Given the description of an element on the screen output the (x, y) to click on. 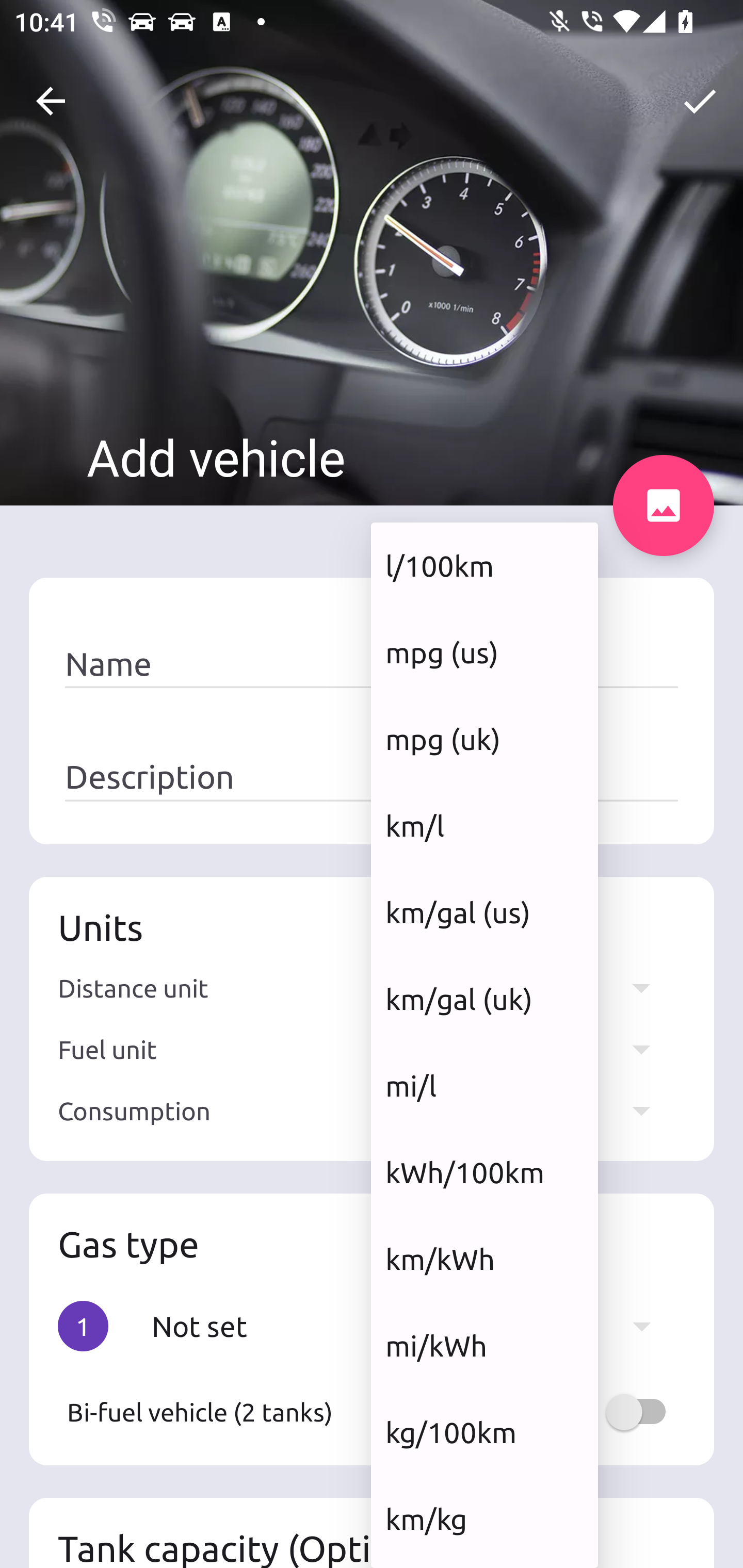
l/100km (484, 565)
mpg (us) (484, 652)
mpg (uk) (484, 739)
km/l (484, 825)
km/gal (us) (484, 912)
km/gal (uk) (484, 999)
mi/l (484, 1085)
kWh/100km (484, 1171)
km/kWh (484, 1259)
mi/kWh (484, 1346)
kg/100km (484, 1432)
km/kg (484, 1518)
